Given the description of an element on the screen output the (x, y) to click on. 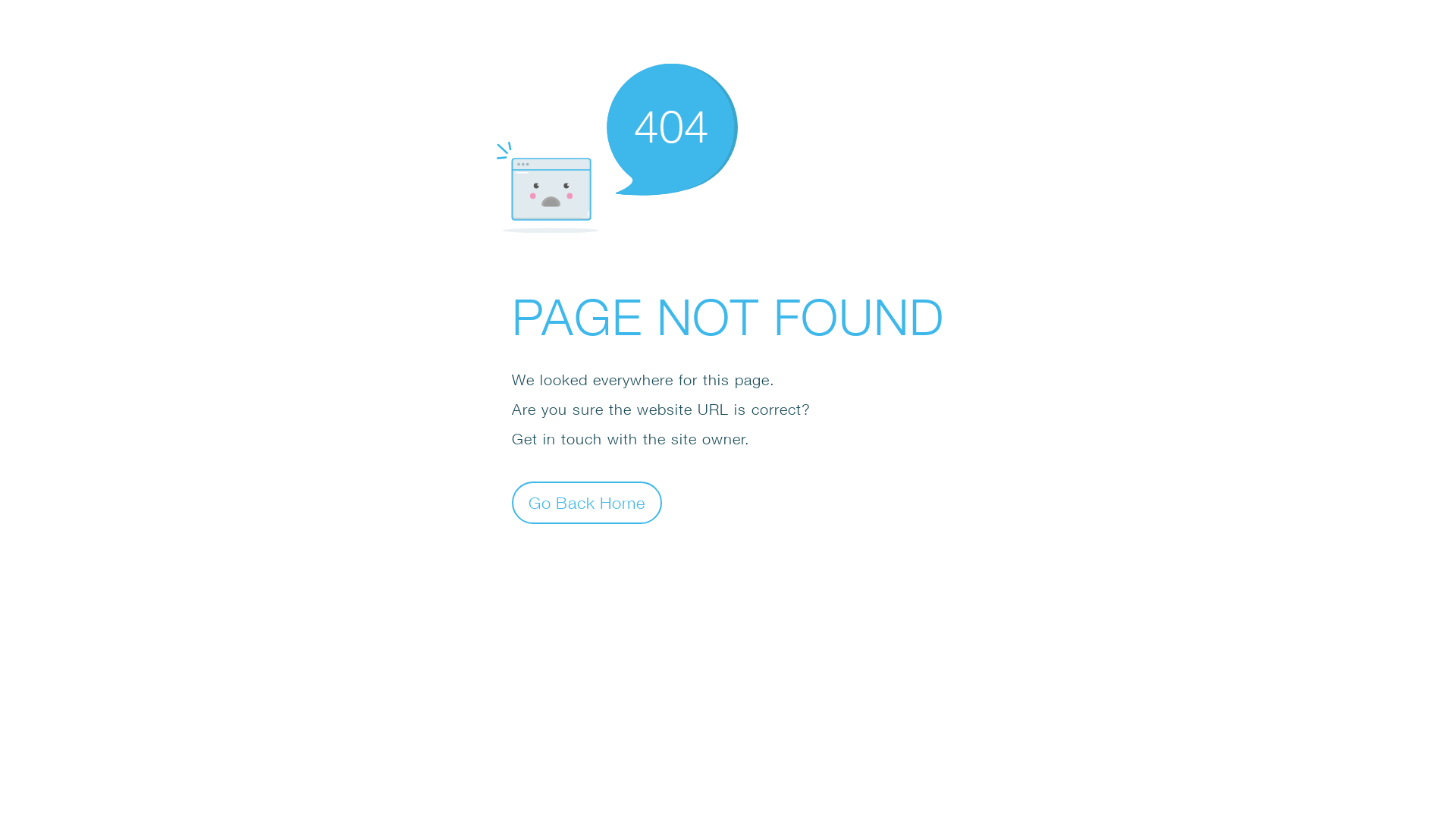
Go Back Home Element type: text (586, 502)
